Given the description of an element on the screen output the (x, y) to click on. 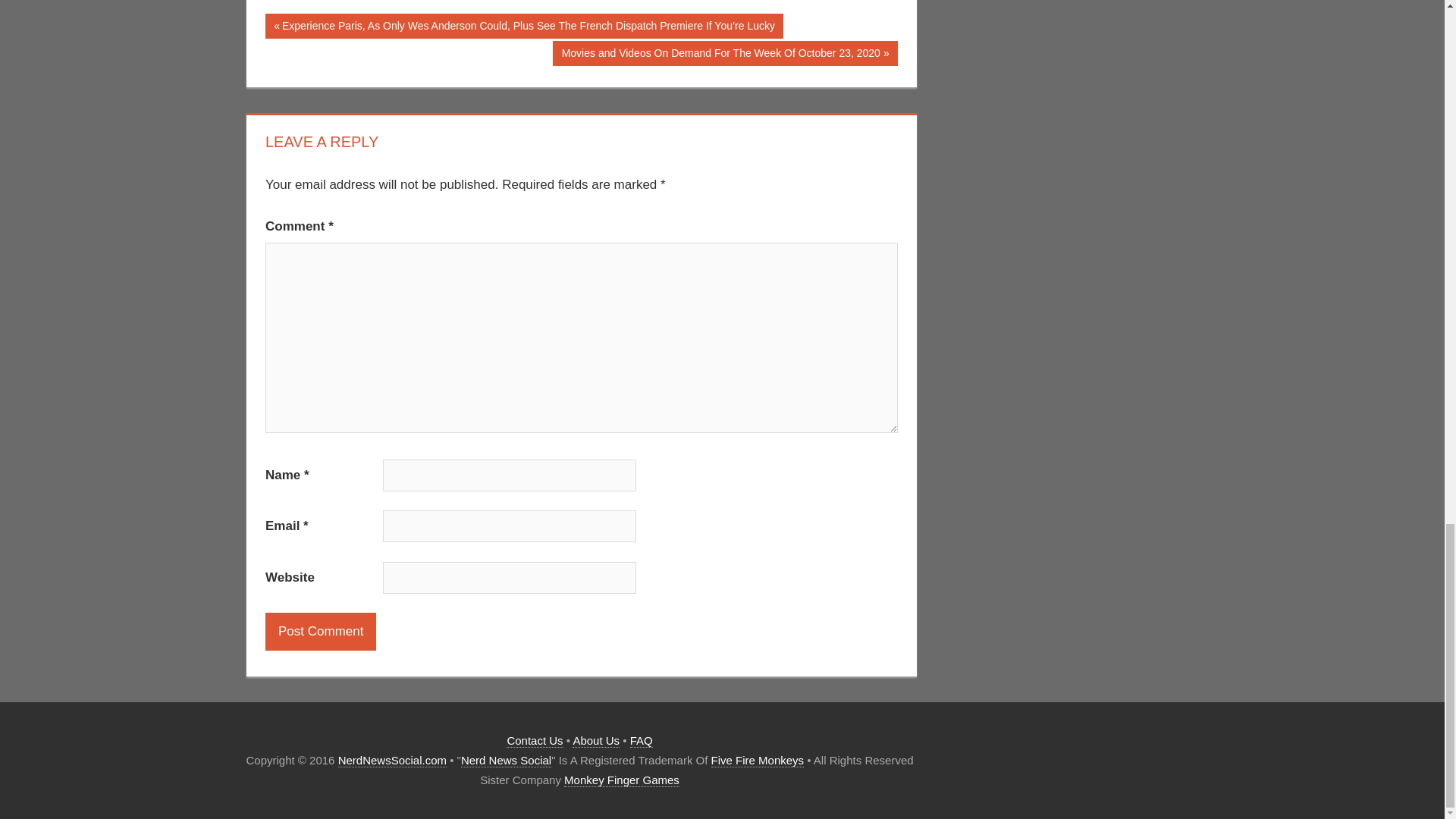
Nerd News Social (391, 760)
Frequently Asked Questions (641, 740)
Nerd News Social (506, 760)
Contact Us (534, 740)
Five Fire Monkeys (758, 760)
Monkey Finger Games (621, 780)
About Us (596, 740)
Post Comment (319, 631)
